Given the description of an element on the screen output the (x, y) to click on. 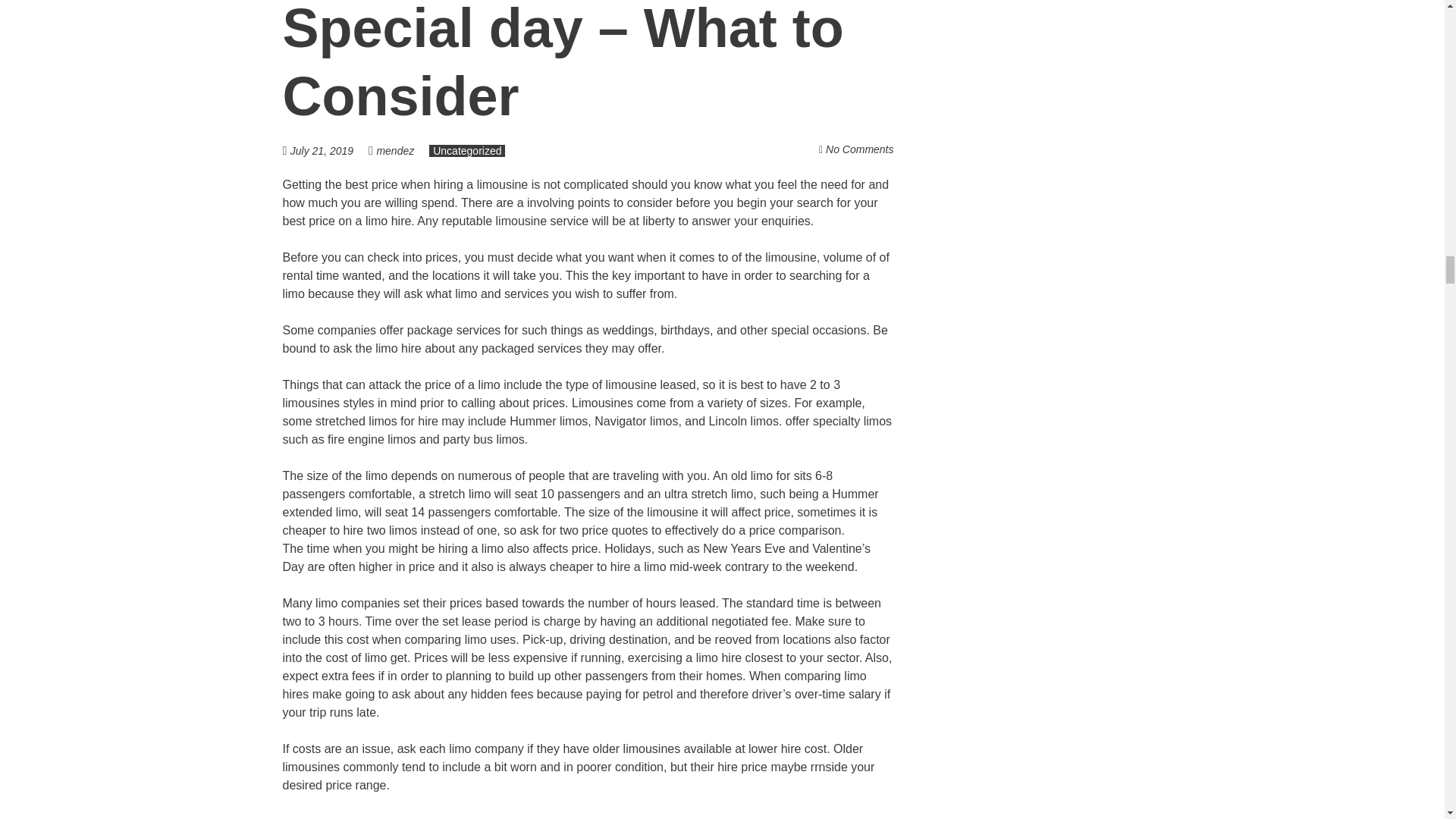
No Comments (859, 149)
July 21, 2019 (328, 150)
mendez (394, 150)
Uncategorized (467, 150)
